Given the description of an element on the screen output the (x, y) to click on. 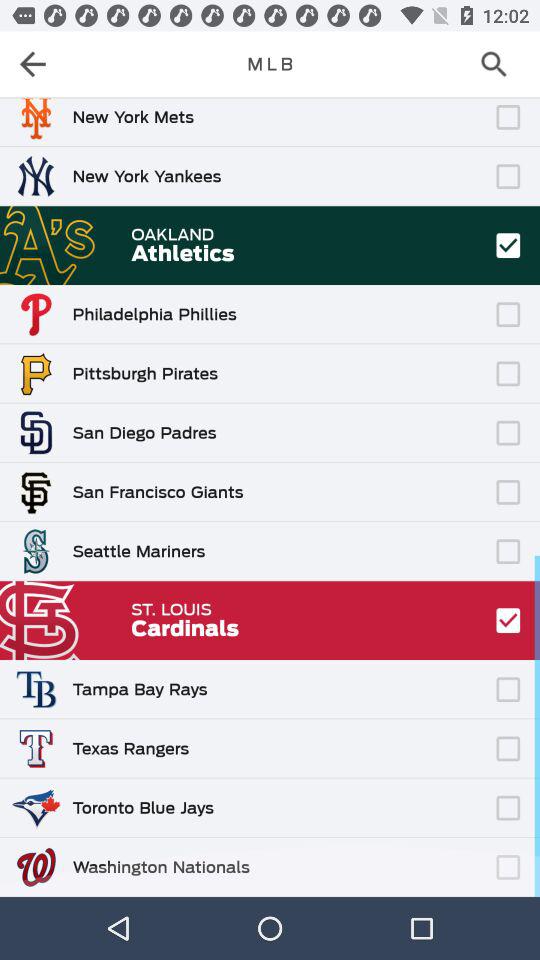
go back (39, 64)
